Given the description of an element on the screen output the (x, y) to click on. 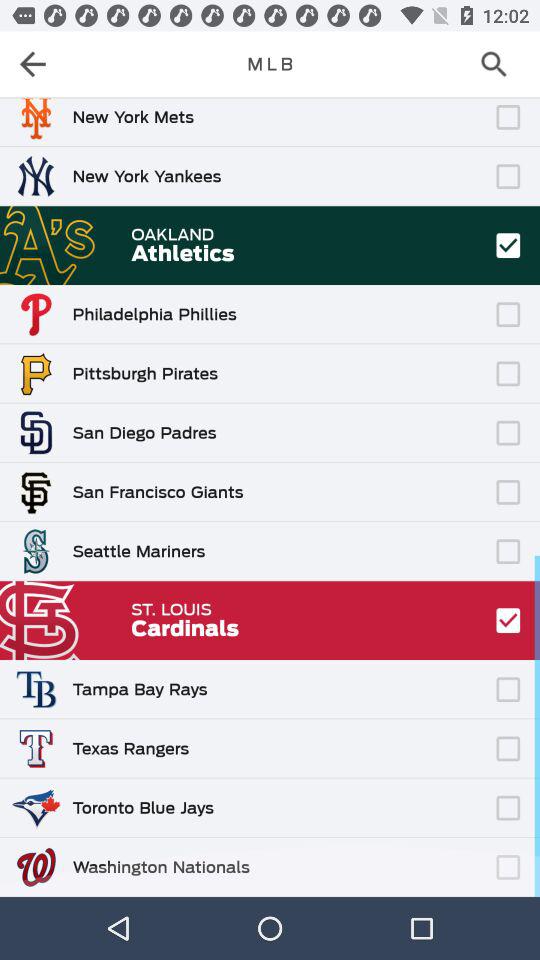
go back (39, 64)
